Given the description of an element on the screen output the (x, y) to click on. 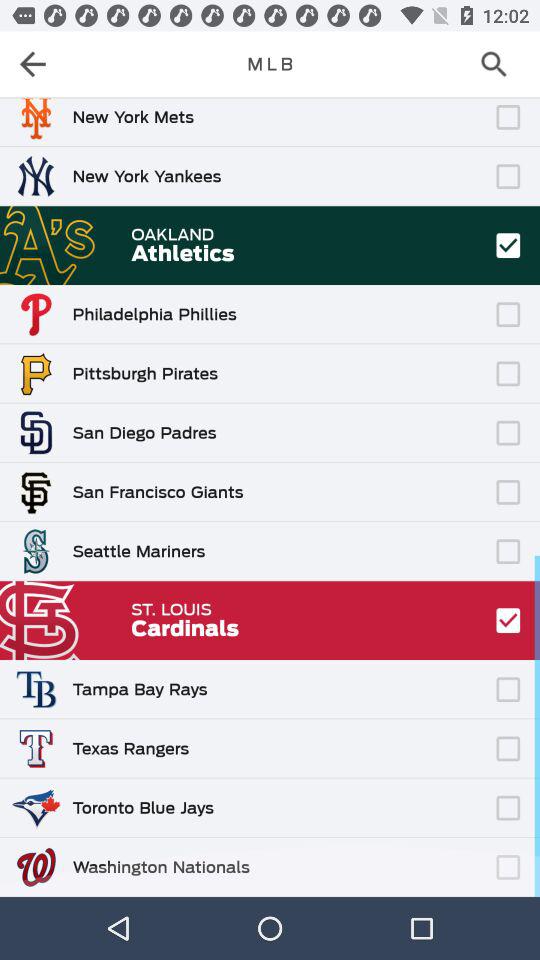
go back (39, 64)
